Given the description of an element on the screen output the (x, y) to click on. 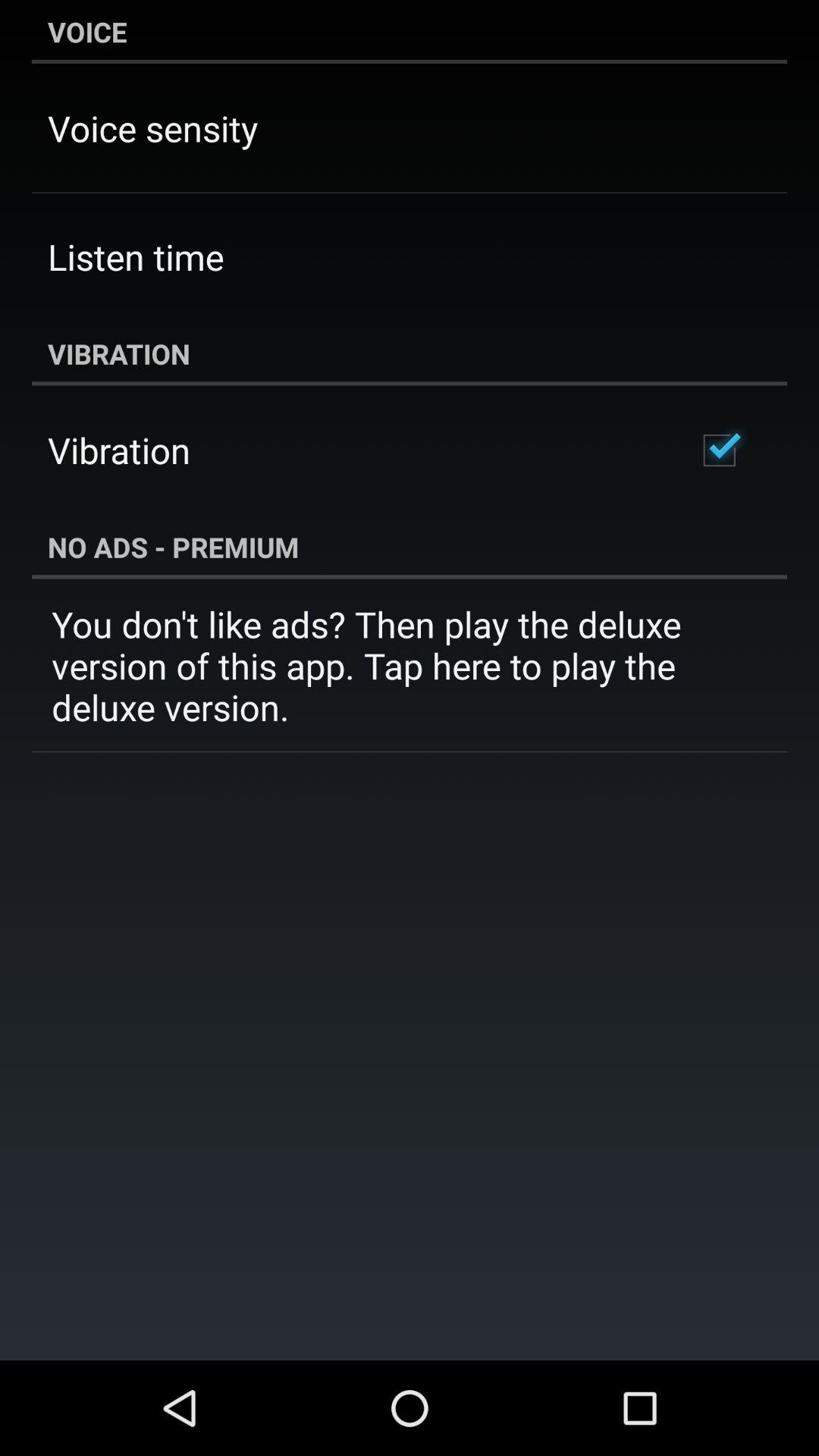
jump until no ads - premium app (409, 546)
